Given the description of an element on the screen output the (x, y) to click on. 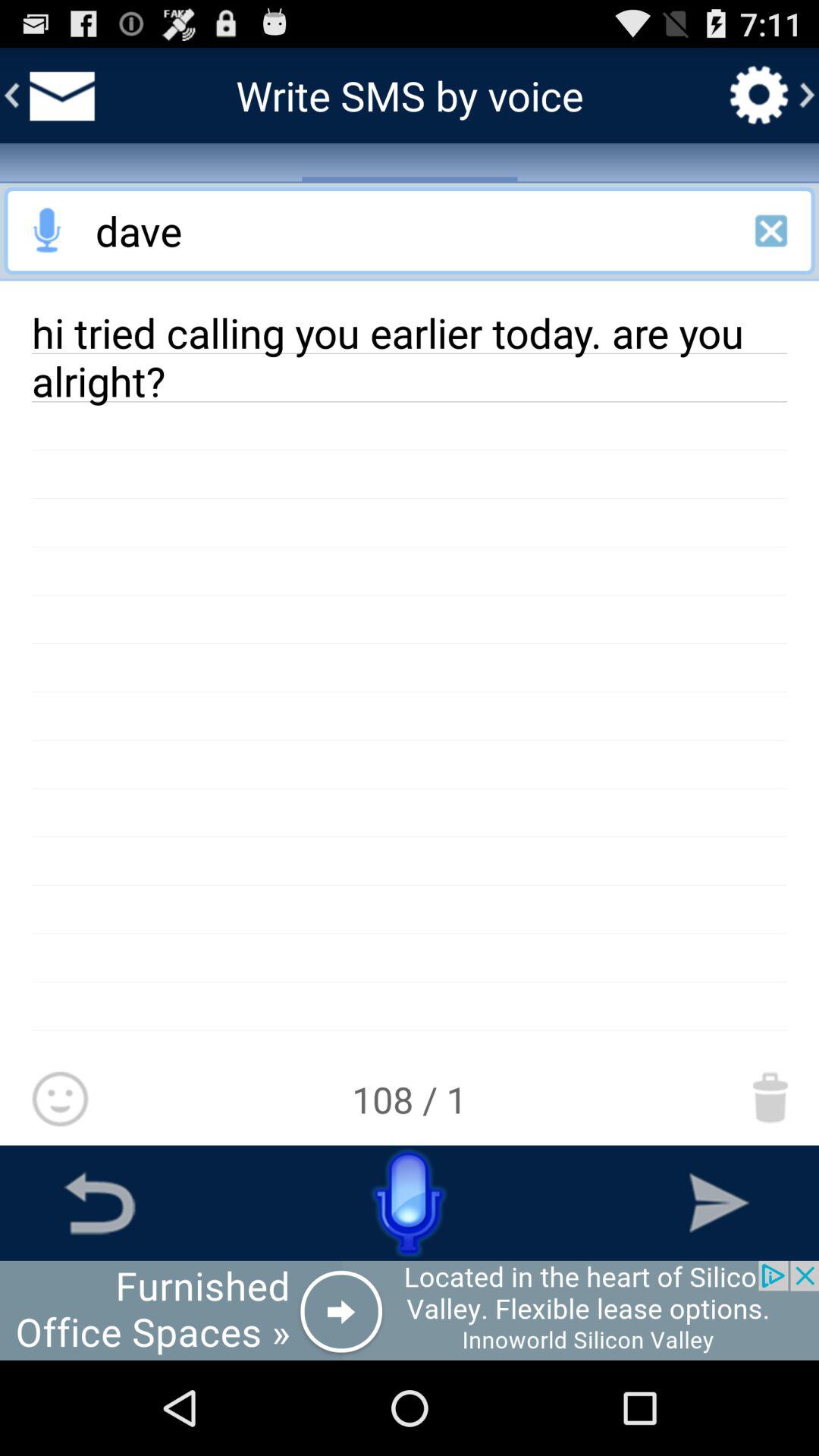
go to advertisement (47, 230)
